Given the description of an element on the screen output the (x, y) to click on. 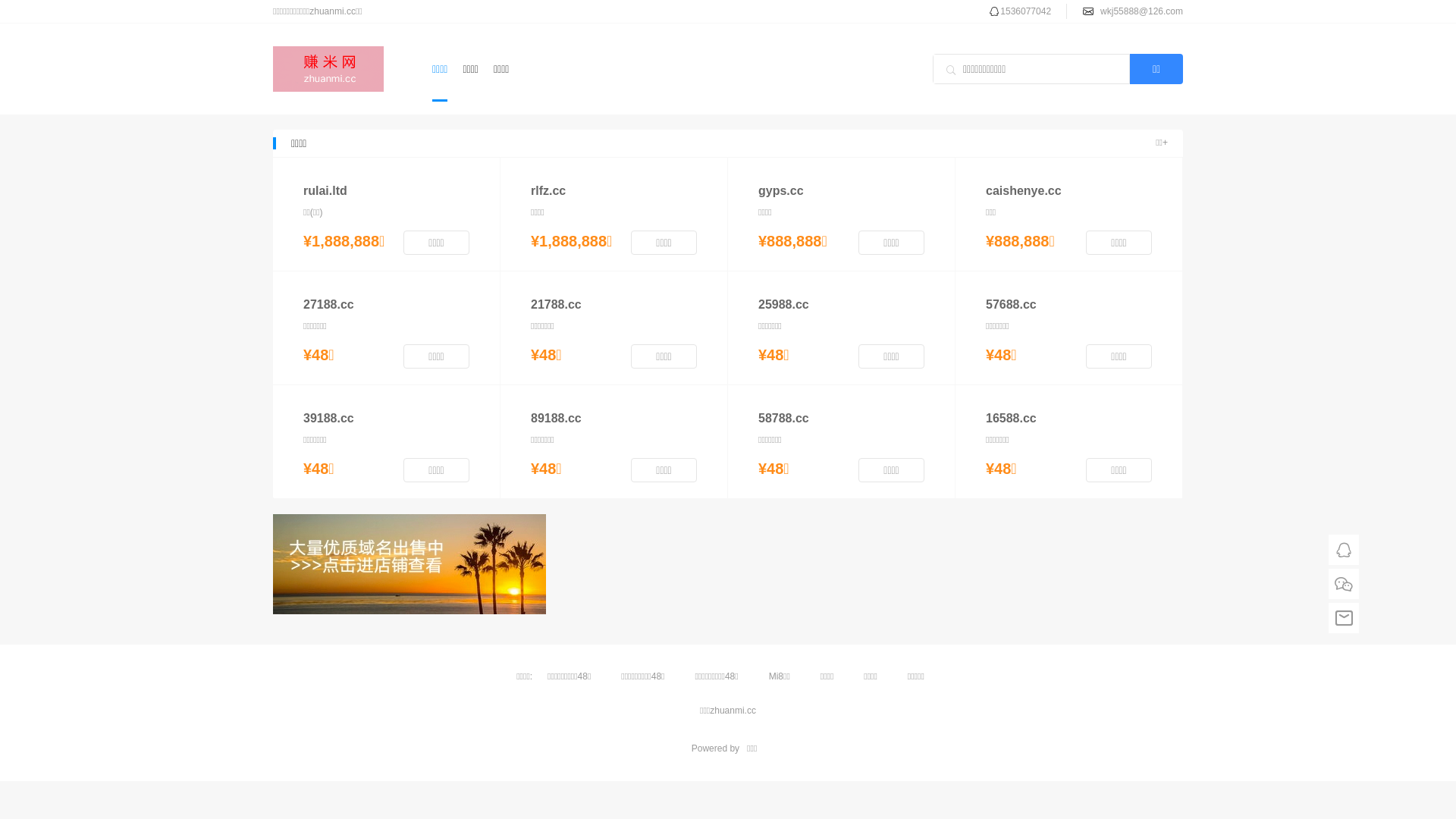
wkj55888@126.com Element type: text (1141, 10)
1536077042 Element type: text (1025, 10)
